Given the description of an element on the screen output the (x, y) to click on. 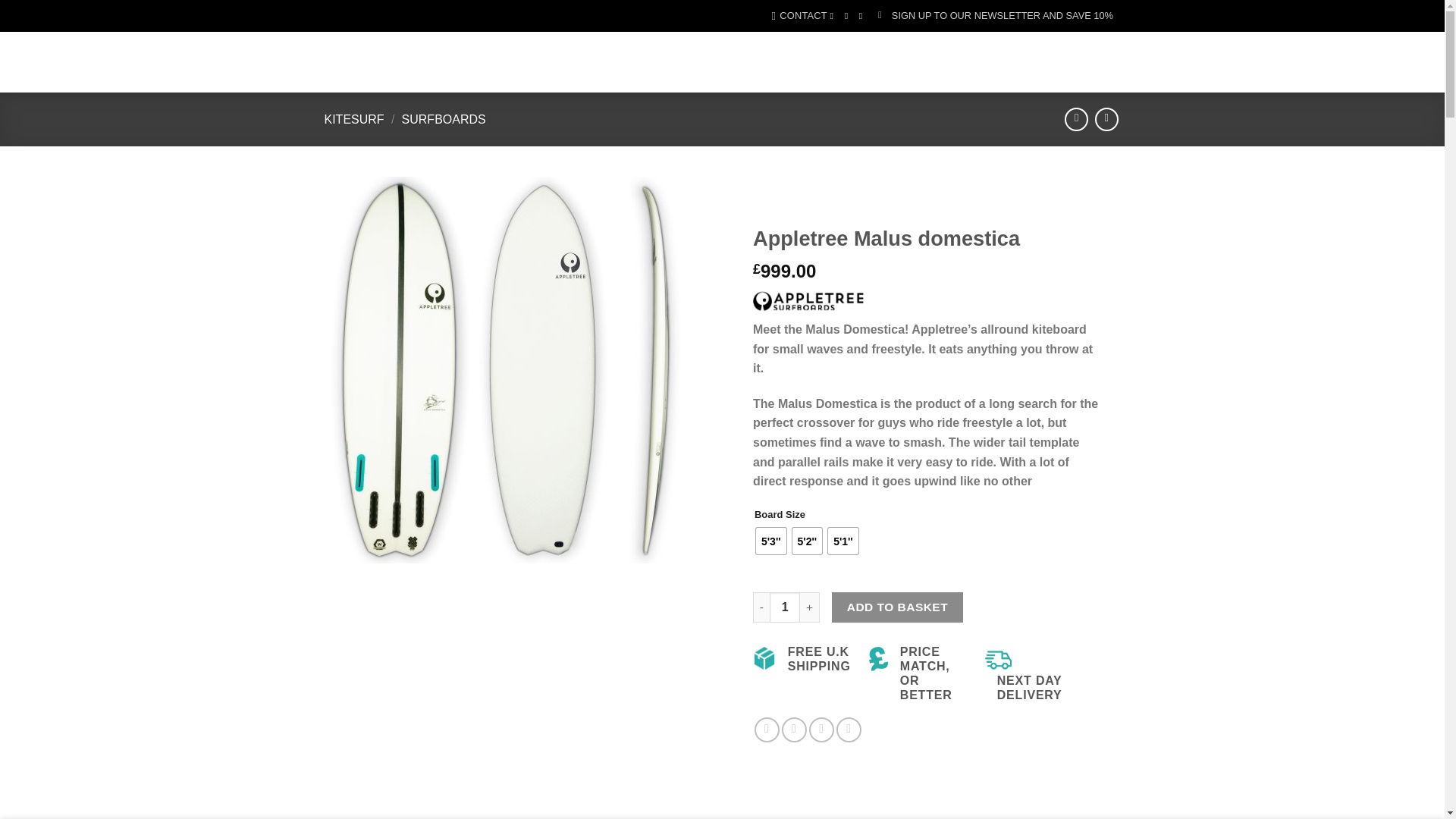
ABOUT (844, 48)
BLOG (601, 82)
Share on Facebook (766, 729)
5'1'' (843, 540)
HOME (530, 48)
KITESURF (354, 119)
SALE (793, 48)
5'3'' (770, 540)
CONTACT (799, 15)
LOGIN (964, 62)
Basket (1051, 62)
WIND WINGS (679, 48)
Login (964, 62)
SURFBOARDS (443, 119)
ADD TO BASKET (896, 607)
